Given the description of an element on the screen output the (x, y) to click on. 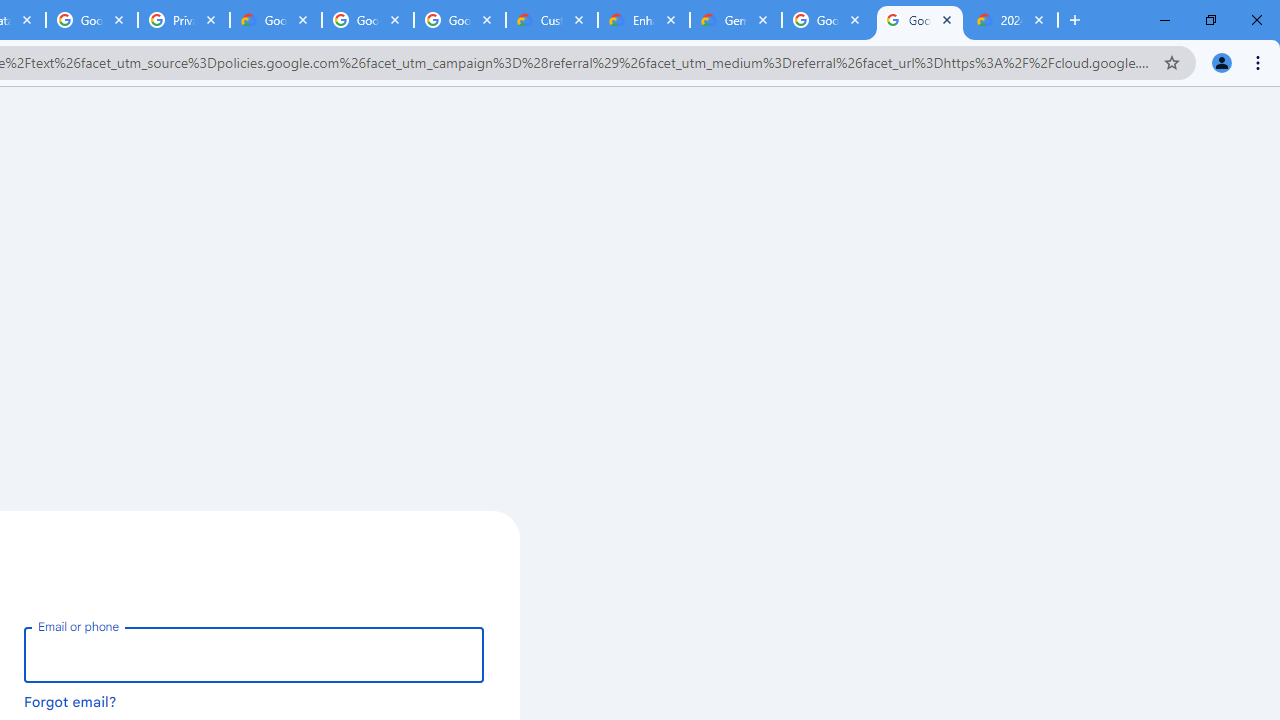
Google Cloud Terms Directory | Google Cloud (276, 20)
Enhanced Support | Google Cloud (643, 20)
Forgot email? (70, 701)
Google Cloud Platform (920, 20)
Gemini for Business and Developers | Google Cloud (735, 20)
Google Workspace - Specific Terms (367, 20)
Google Workspace - Specific Terms (459, 20)
